Given the description of an element on the screen output the (x, y) to click on. 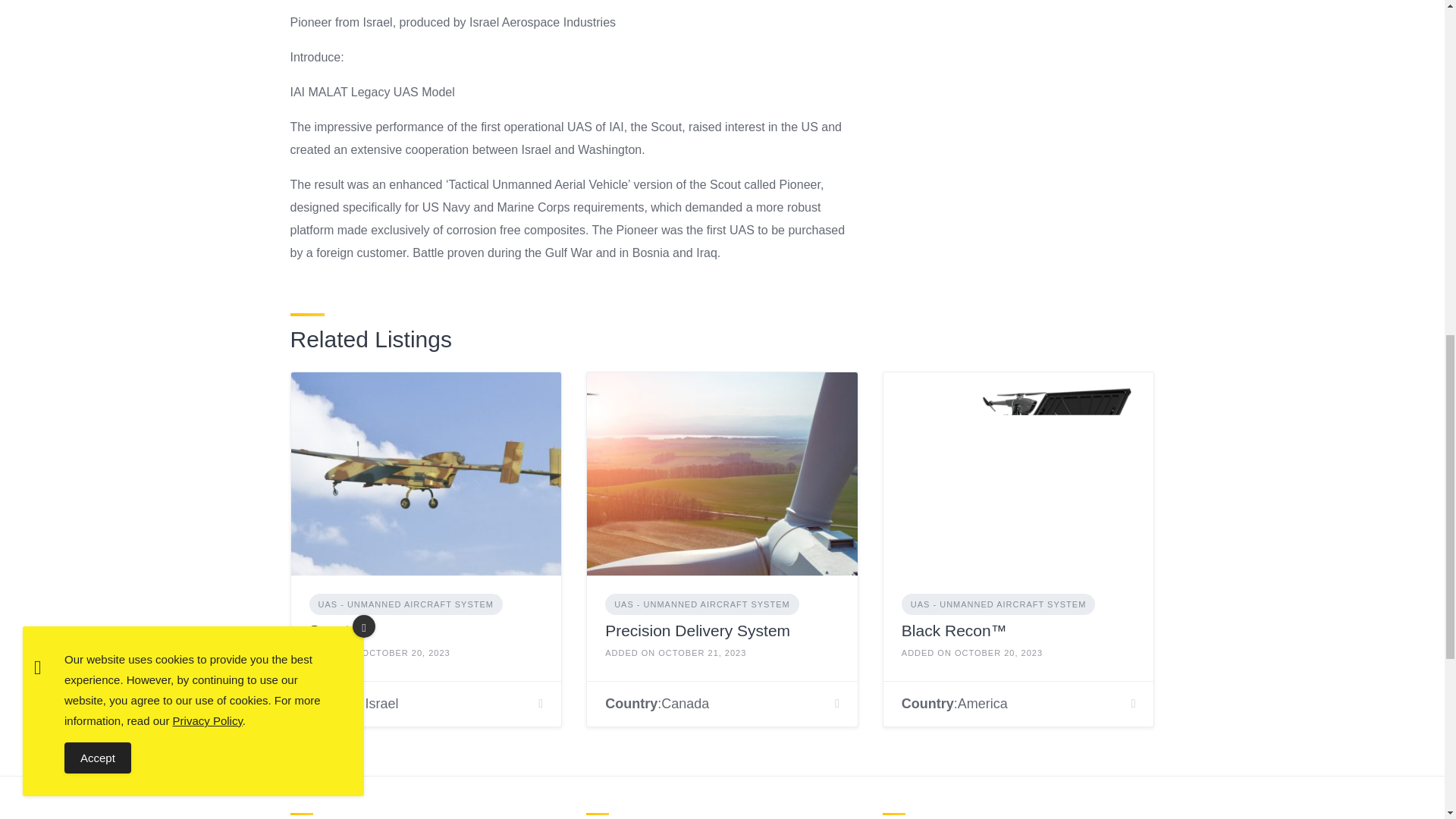
UAS - UNMANNED AIRCRAFT SYSTEM (702, 604)
UAS - UNMANNED AIRCRAFT SYSTEM (998, 604)
UAS - UNMANNED AIRCRAFT SYSTEM (405, 604)
Scout (329, 630)
Precision Delivery System (697, 630)
